Given the description of an element on the screen output the (x, y) to click on. 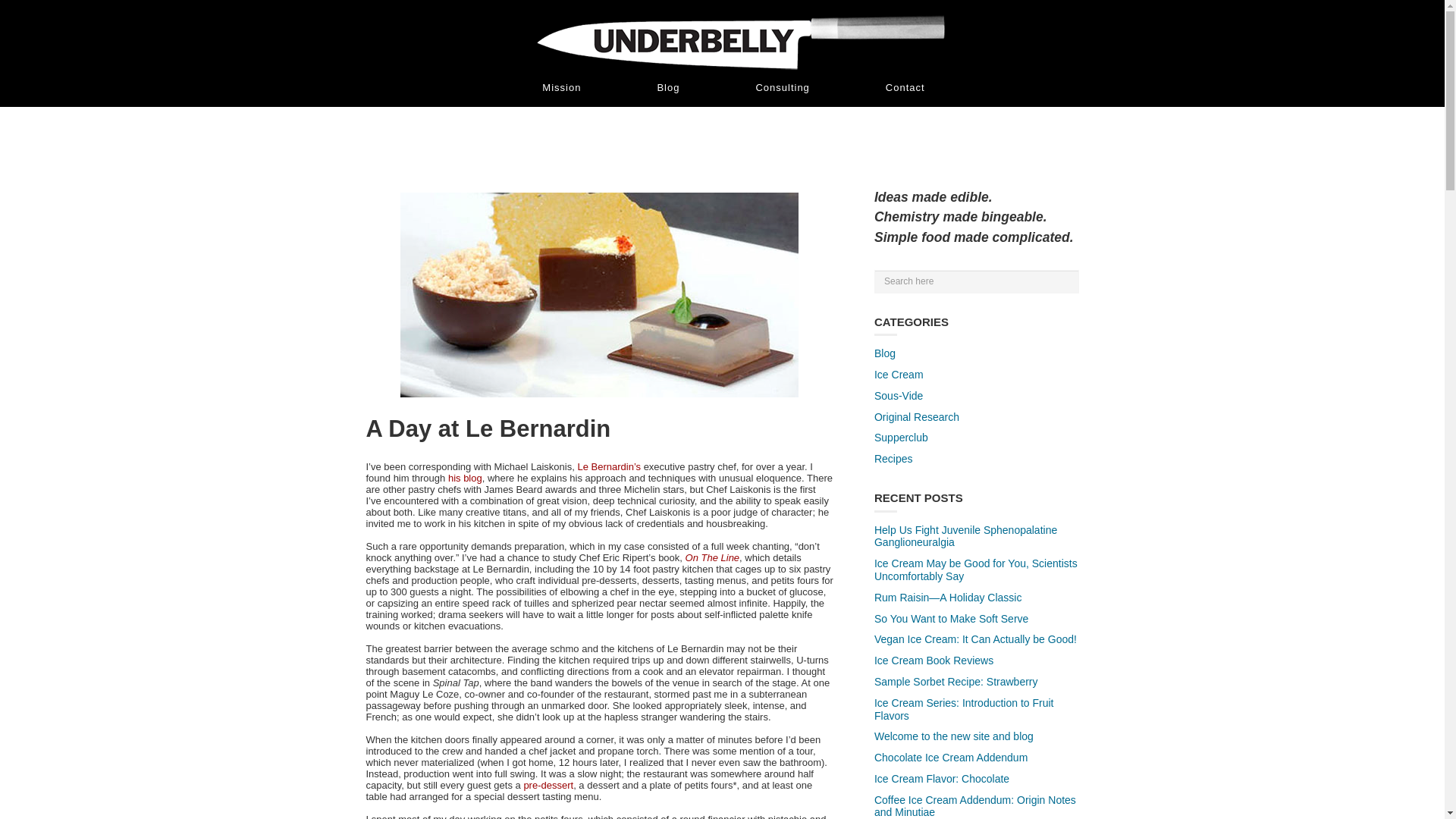
blog (472, 478)
On The Line (712, 557)
Consulting (782, 87)
Contact (904, 87)
Blog (667, 87)
Mission (560, 87)
pre-dessert (547, 785)
